Given the description of an element on the screen output the (x, y) to click on. 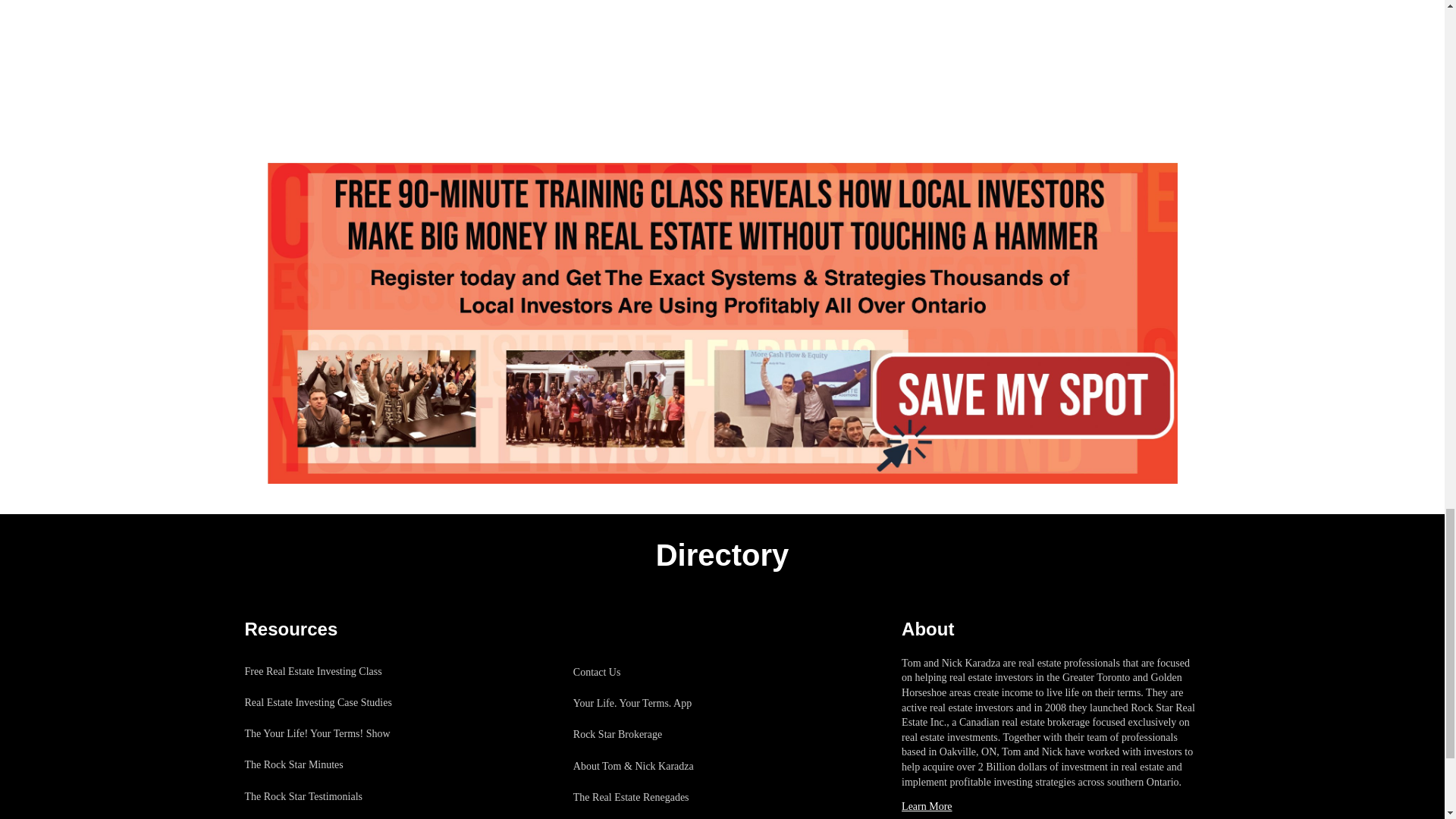
The Rock Star Testimonials (336, 796)
The Rock Star Minutes (336, 764)
The Your Life! Your Terms! Show (336, 733)
Contact Us (651, 671)
Real Estate Investing Case Studies (336, 702)
Free Real Estate Investing Class (336, 671)
Rock Star Investing Articles (336, 815)
Your Life. Your Terms. App (651, 703)
